Given the description of an element on the screen output the (x, y) to click on. 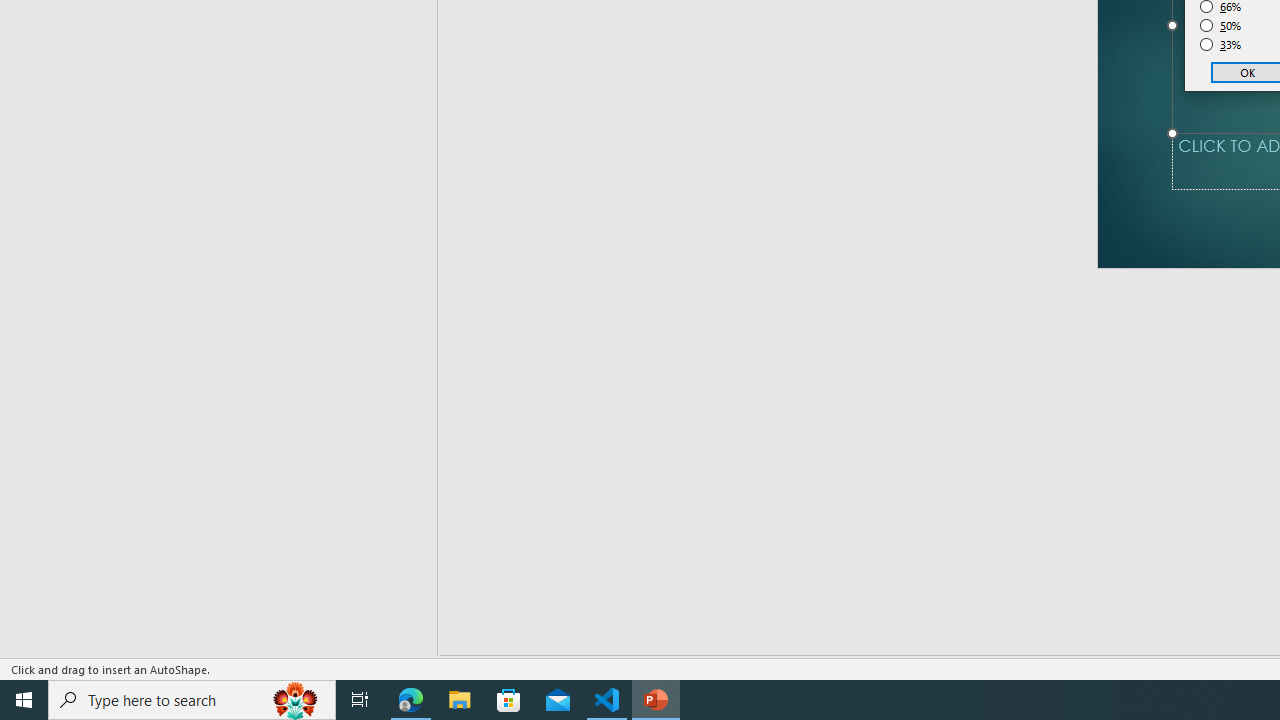
Microsoft Edge - 1 running window (411, 699)
33% (1221, 44)
50% (1221, 25)
